Given the description of an element on the screen output the (x, y) to click on. 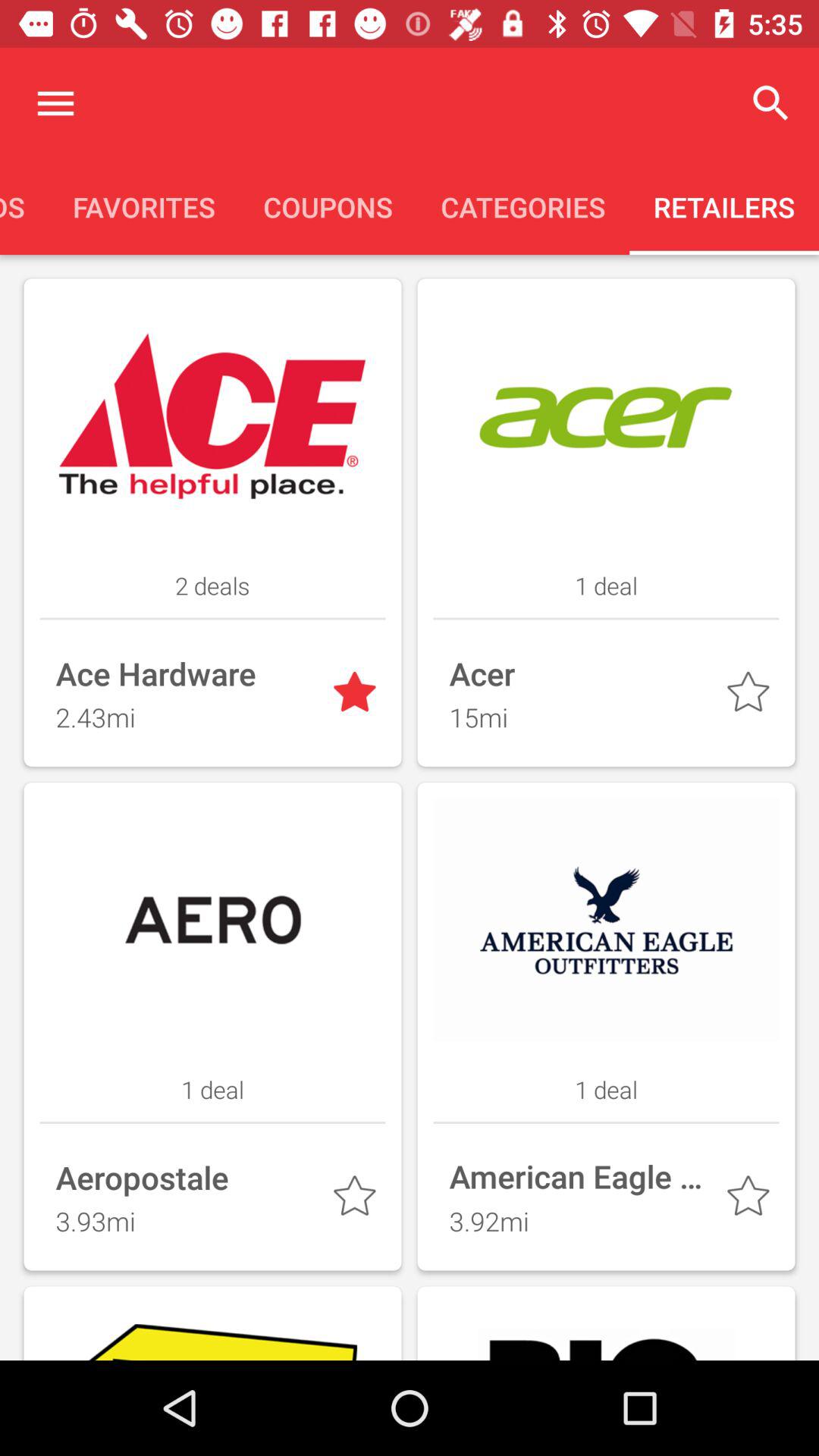
favorite store (751, 1199)
